Given the description of an element on the screen output the (x, y) to click on. 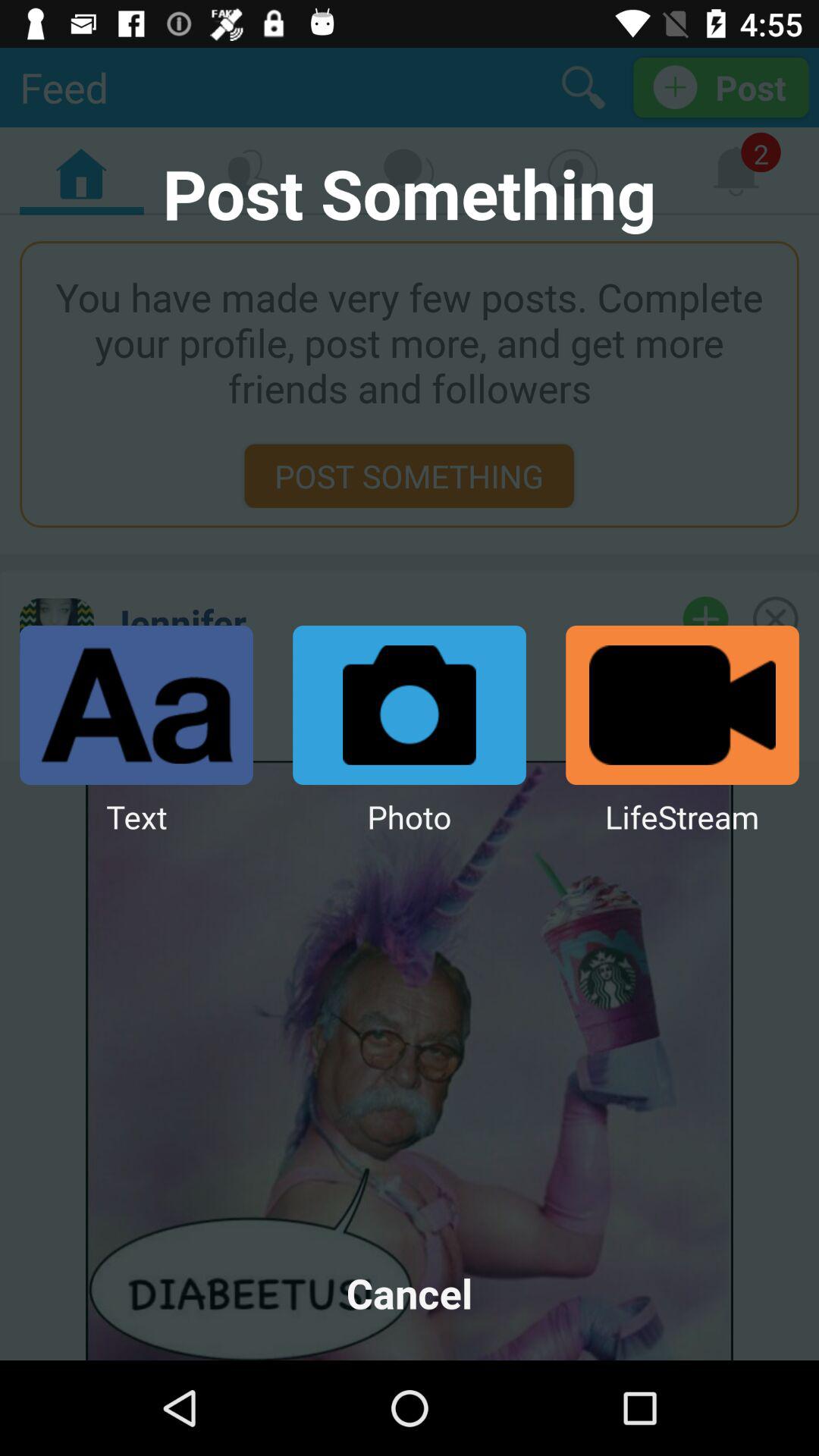
turn on cancel (409, 1292)
